Given the description of an element on the screen output the (x, y) to click on. 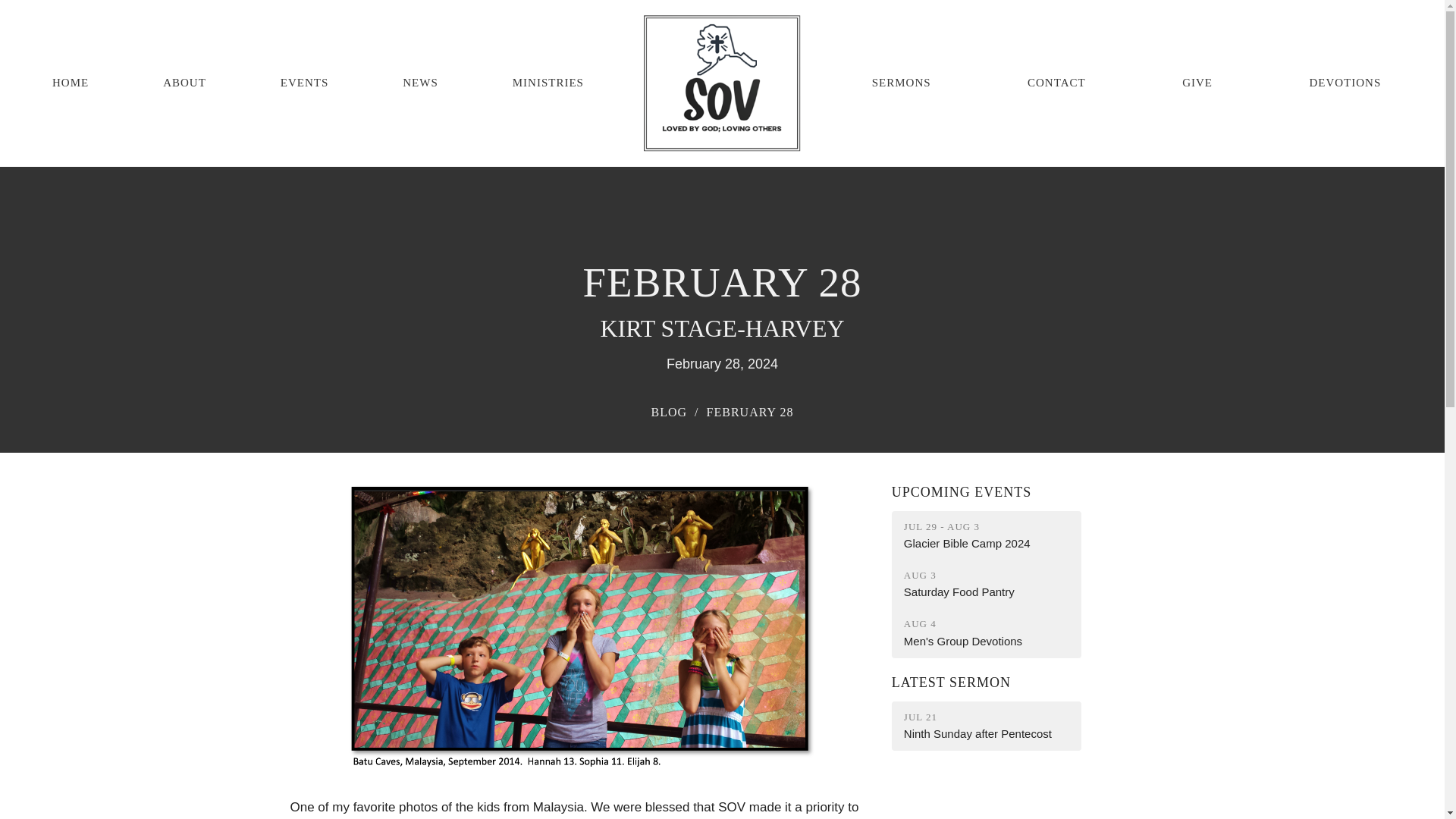
BLOG (668, 411)
GIVE (986, 726)
ABOUT (986, 584)
HOME (1197, 82)
MINISTRIES (184, 82)
EVENTS (70, 82)
DEVOTIONS (547, 82)
UPCOMING EVENTS (305, 82)
CONTACT (1344, 82)
SERMONS (961, 491)
NEWS (986, 632)
